Given the description of an element on the screen output the (x, y) to click on. 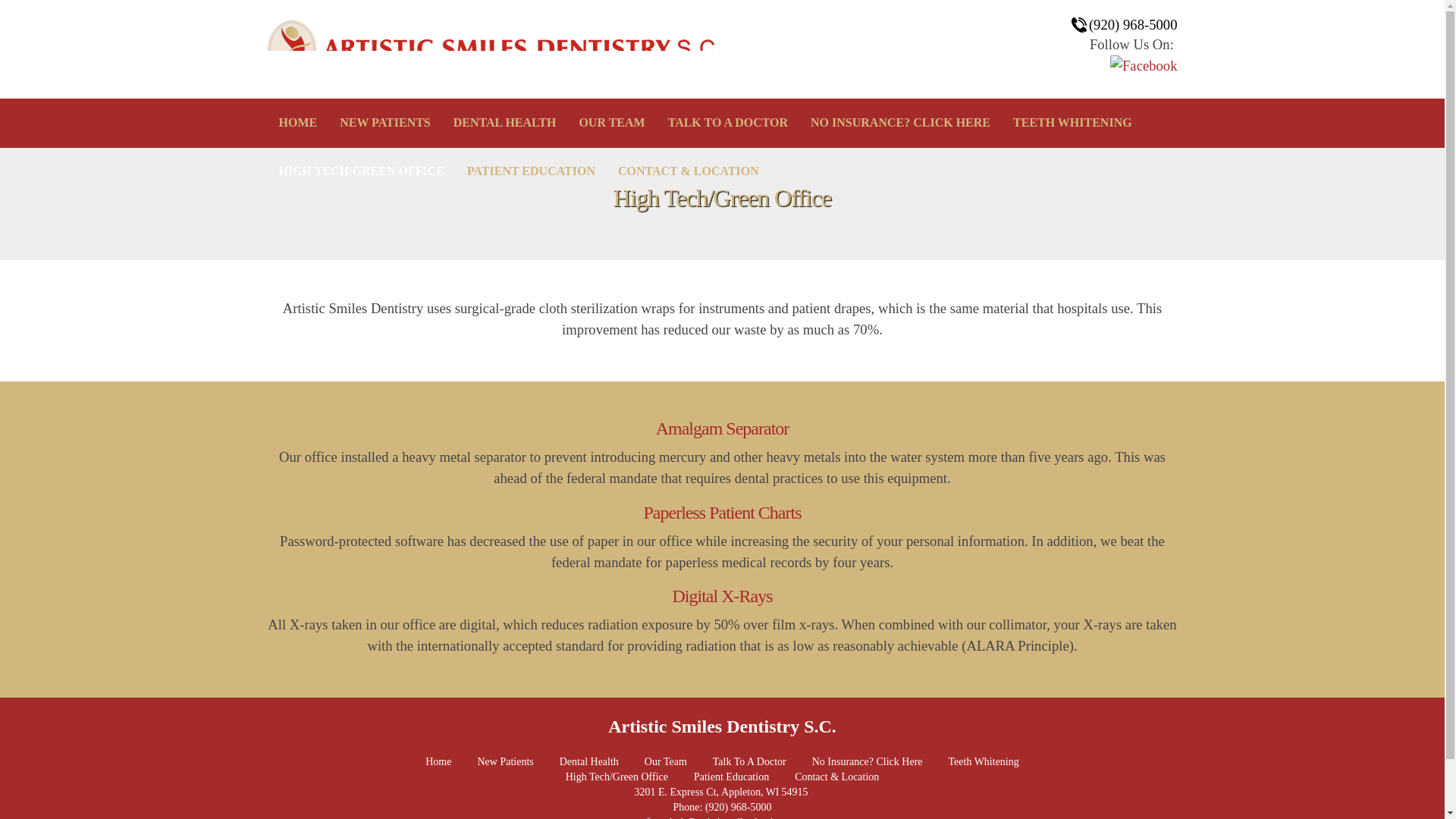
Artistic Smiles Dentistry (494, 49)
Artistic Smiles Dentistry S.C. (721, 726)
Teeth Whitening (984, 761)
Facebook (1143, 65)
NO INSURANCE? CLICK HERE (900, 122)
Patient Education (731, 776)
TEETH WHITENING (1073, 122)
HOME (297, 122)
Talk To A Doctor (749, 761)
OUR TEAM (611, 122)
Our Team (666, 761)
PATIENT EDUCATION (531, 171)
Dental Health (588, 761)
NEW PATIENTS (384, 122)
Home (438, 761)
